Given the description of an element on the screen output the (x, y) to click on. 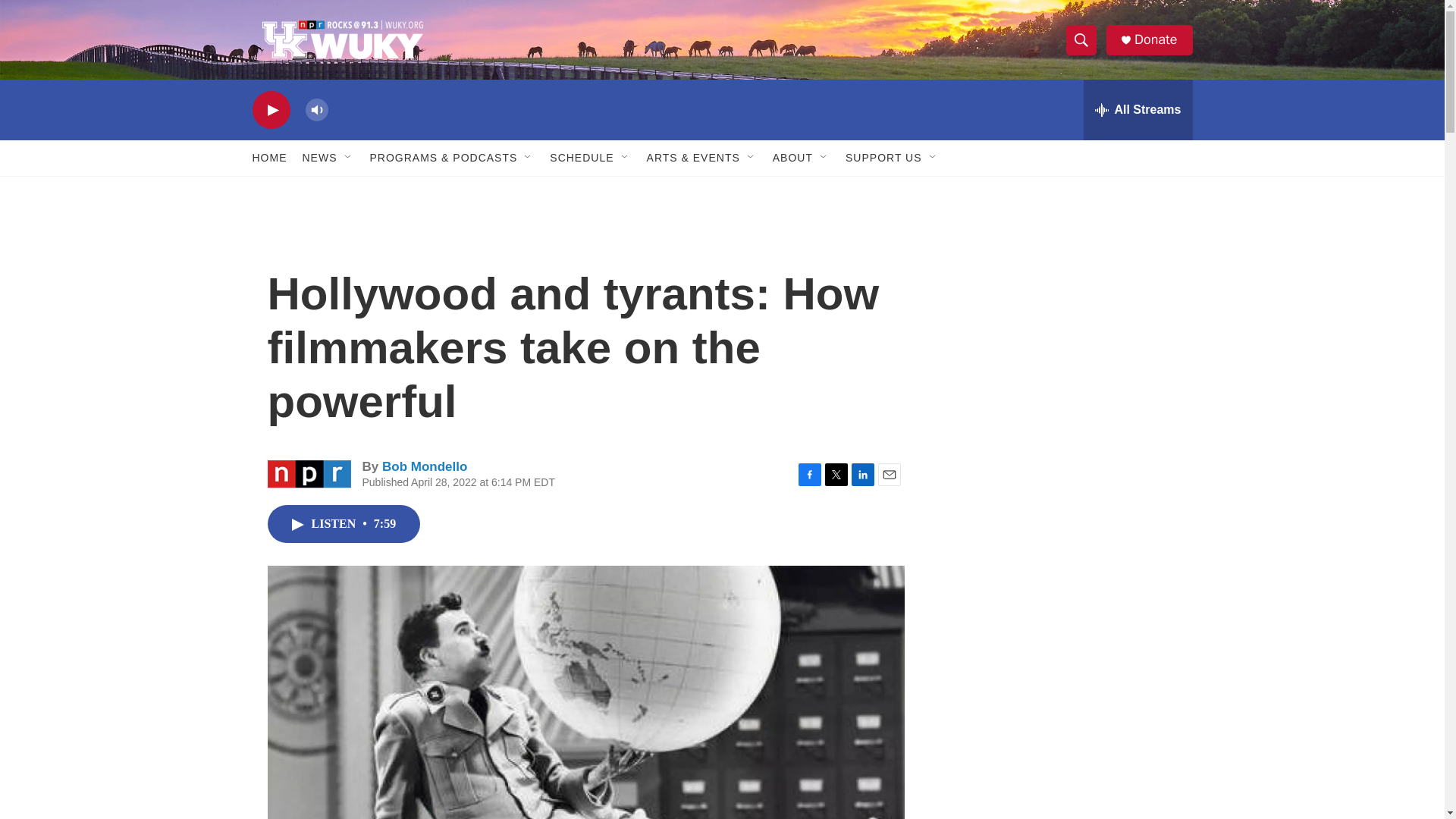
3rd party ad content (1070, 403)
